Given the description of an element on the screen output the (x, y) to click on. 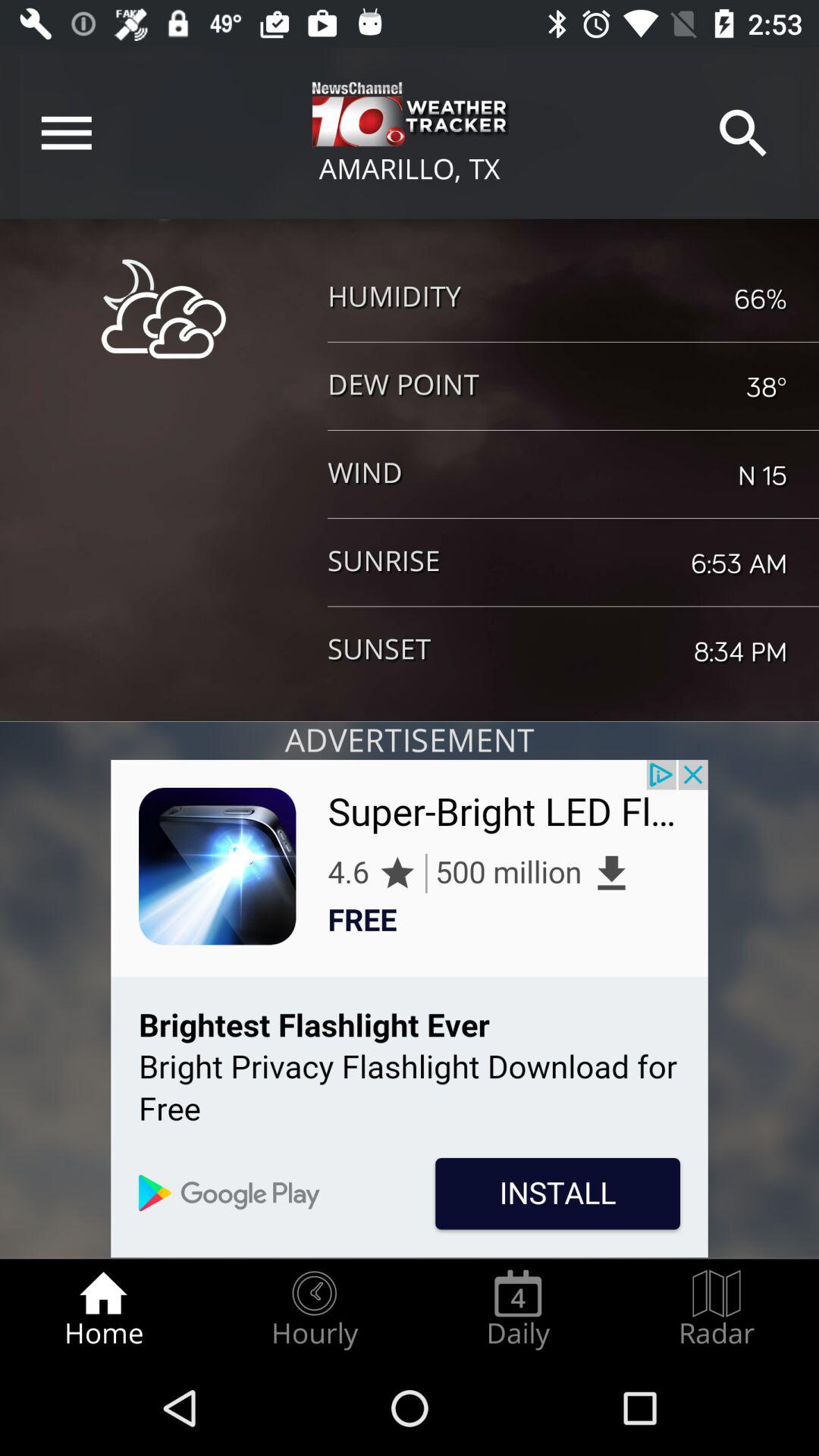
tap item next to radar icon (518, 1309)
